Given the description of an element on the screen output the (x, y) to click on. 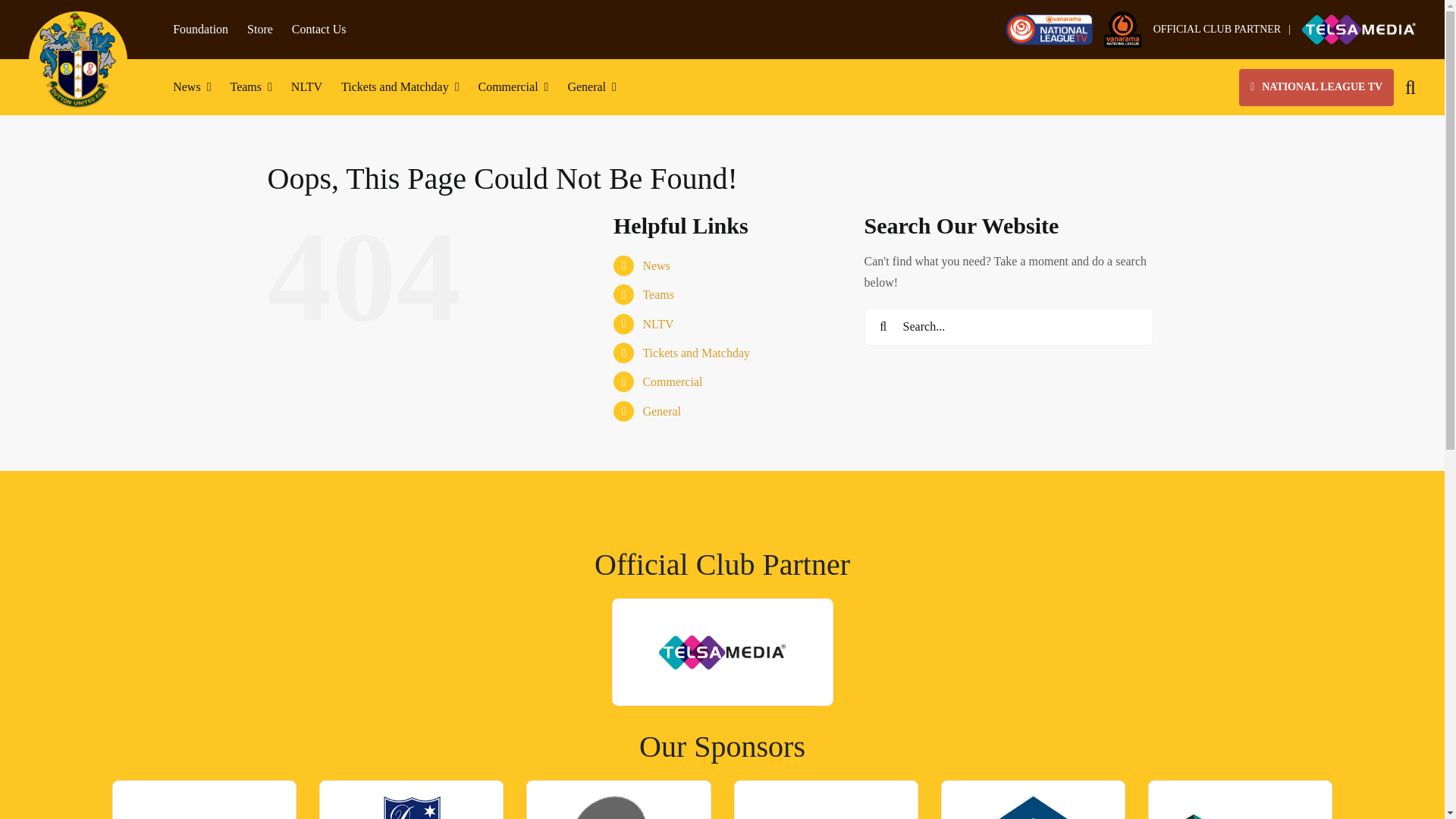
Foundation (200, 29)
Teams (250, 86)
Contact Us (319, 29)
News (192, 86)
Store (260, 29)
Tickets and Matchday (399, 86)
